Given the description of an element on the screen output the (x, y) to click on. 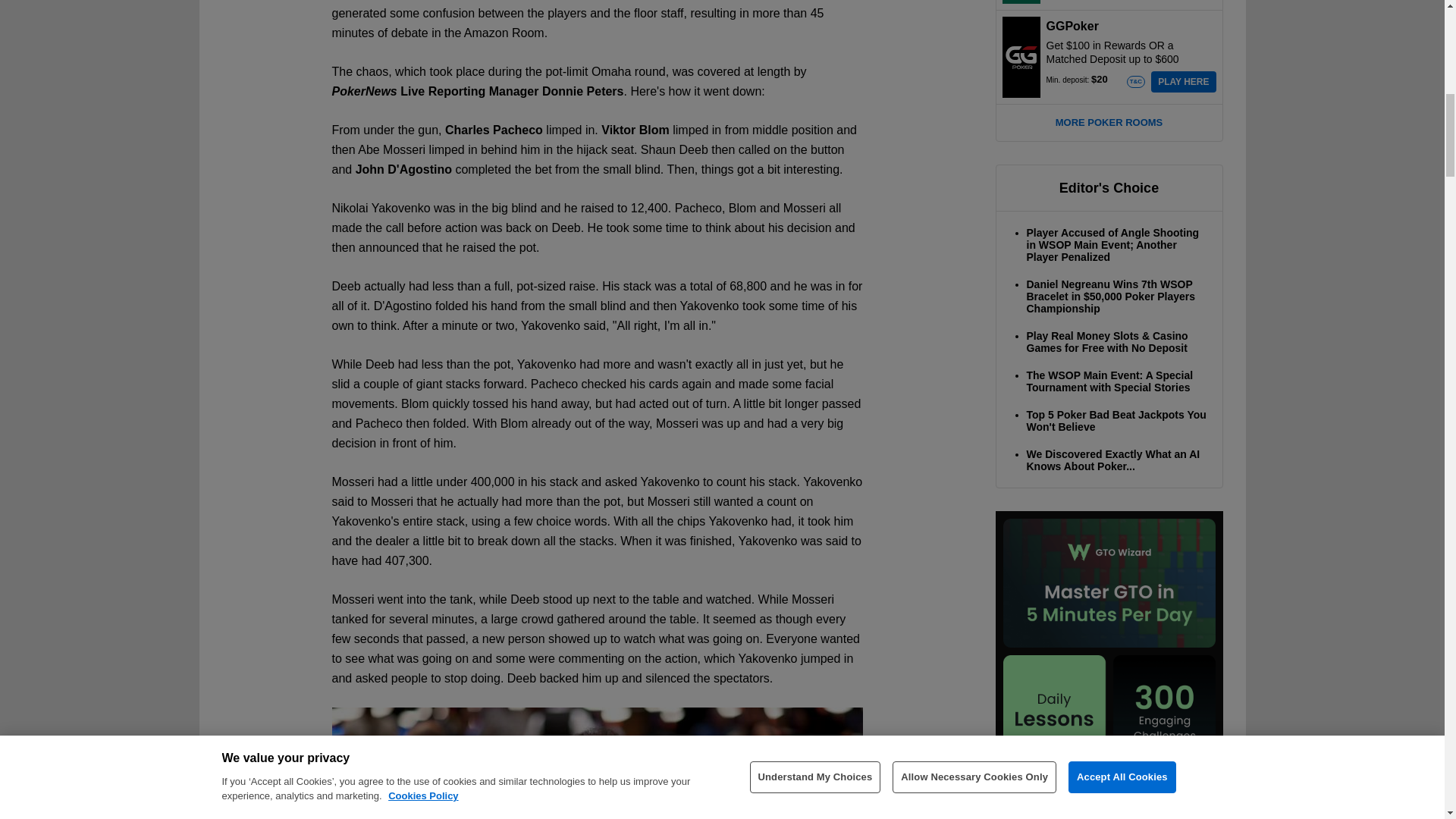
GGPoker (1022, 56)
